Given the description of an element on the screen output the (x, y) to click on. 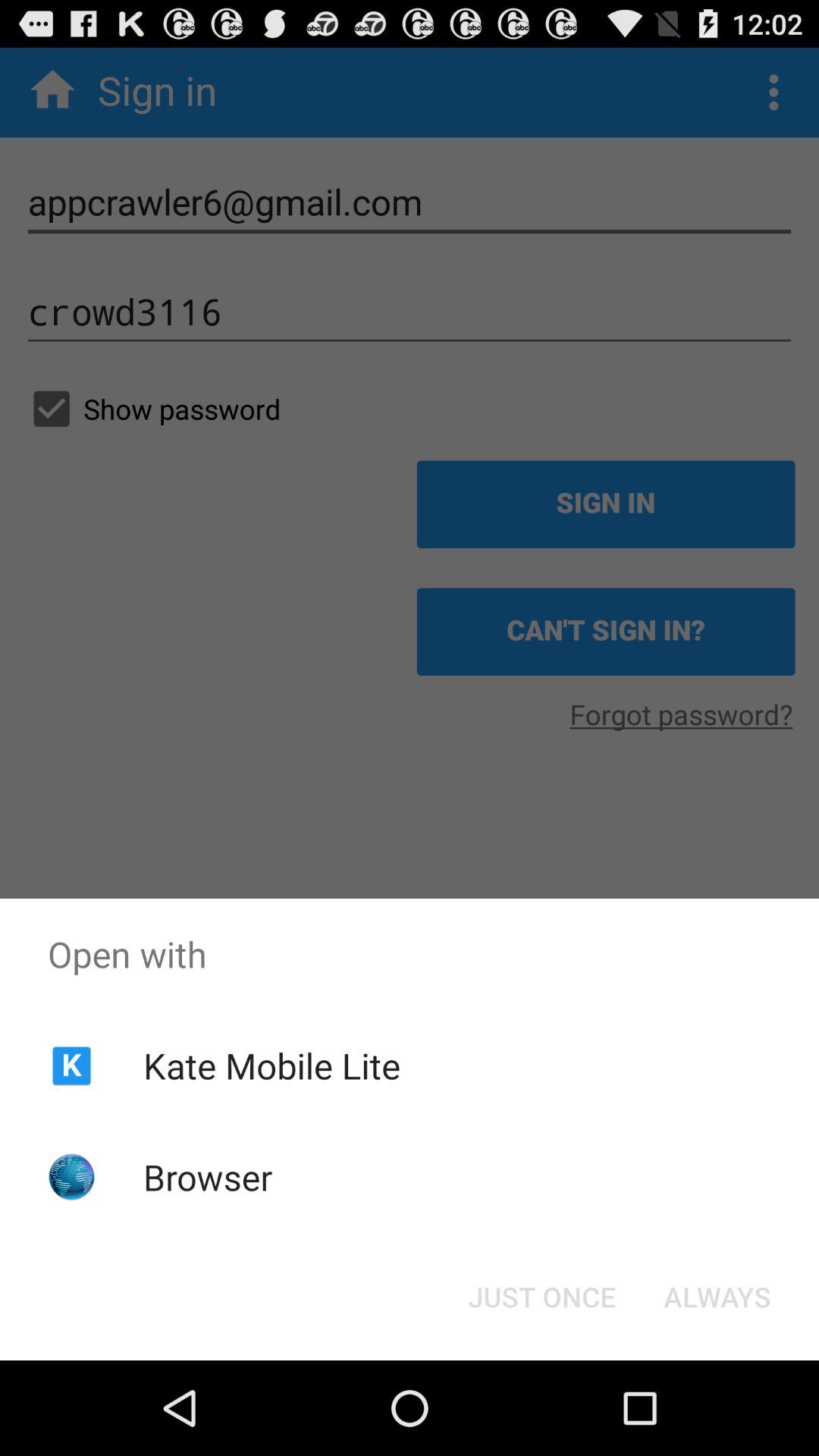
swipe to the always icon (717, 1296)
